Given the description of an element on the screen output the (x, y) to click on. 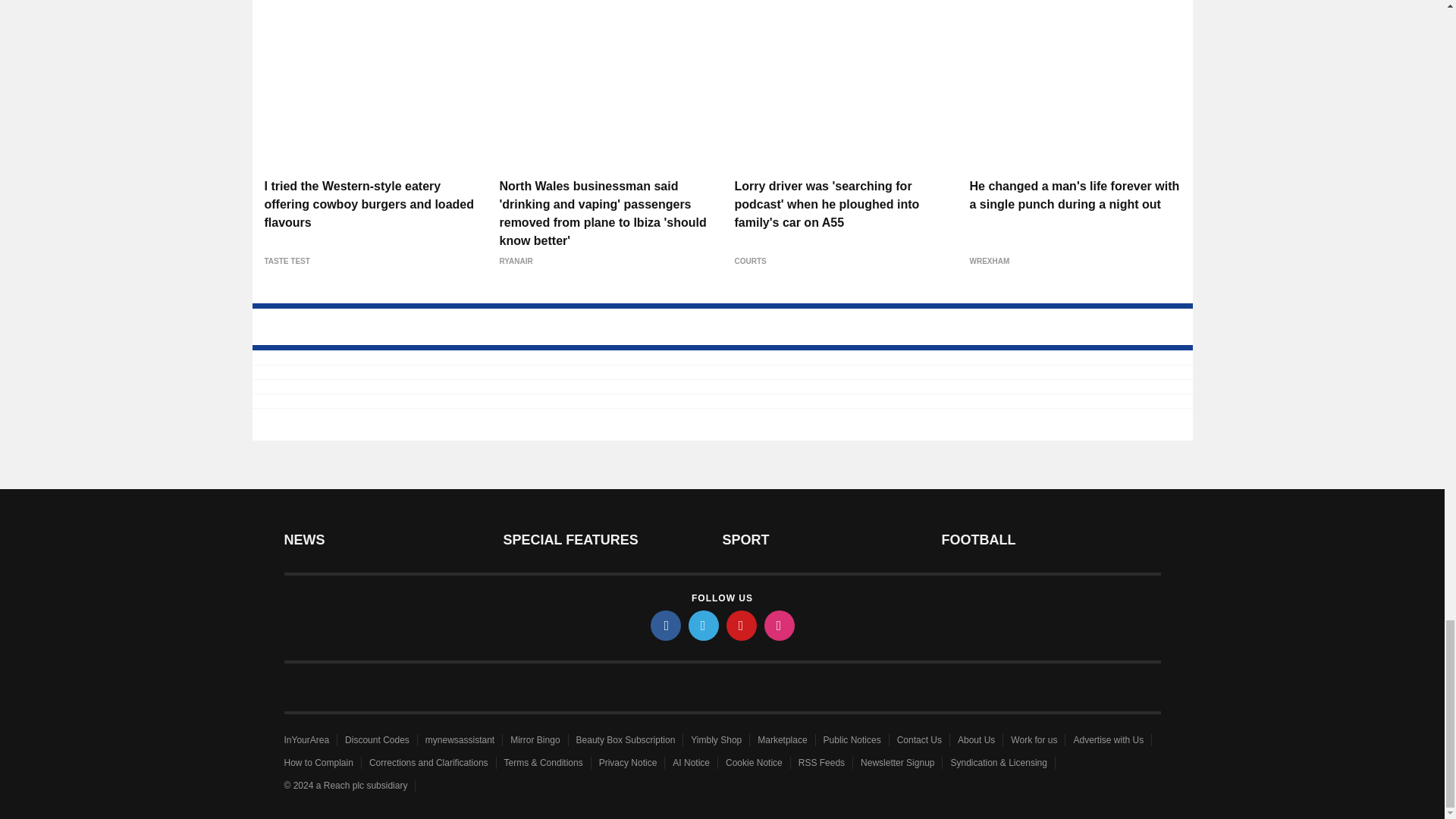
pinterest (741, 625)
instagram (779, 625)
twitter (703, 625)
facebook (665, 625)
